Given the description of an element on the screen output the (x, y) to click on. 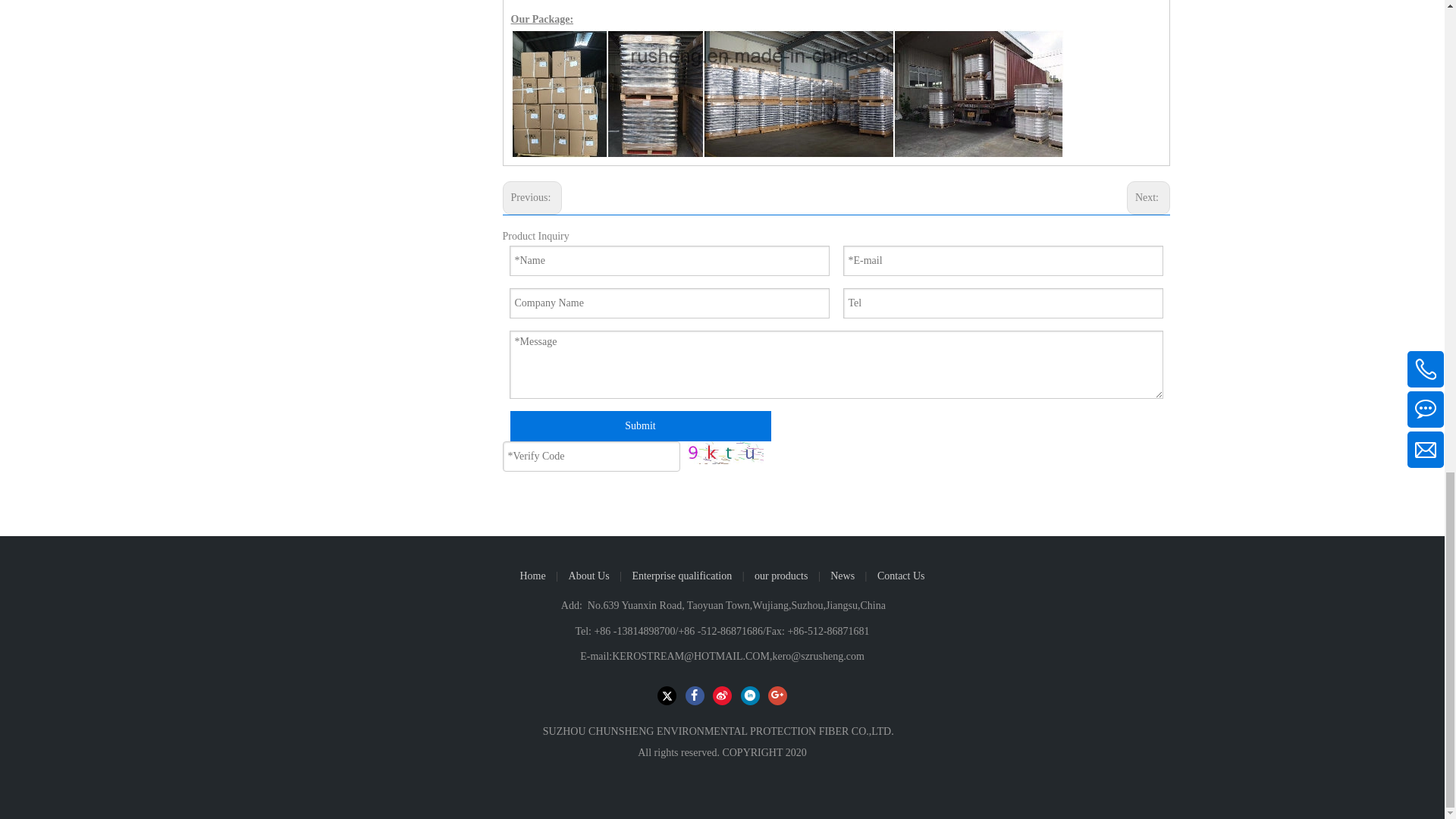
Home (531, 575)
About Us (589, 575)
our products (781, 575)
Twitter (667, 695)
Contact Us (900, 575)
Facebook (694, 695)
Enterprise qualification (681, 575)
News (841, 575)
Submit (639, 426)
Linkedin (748, 695)
